Given the description of an element on the screen output the (x, y) to click on. 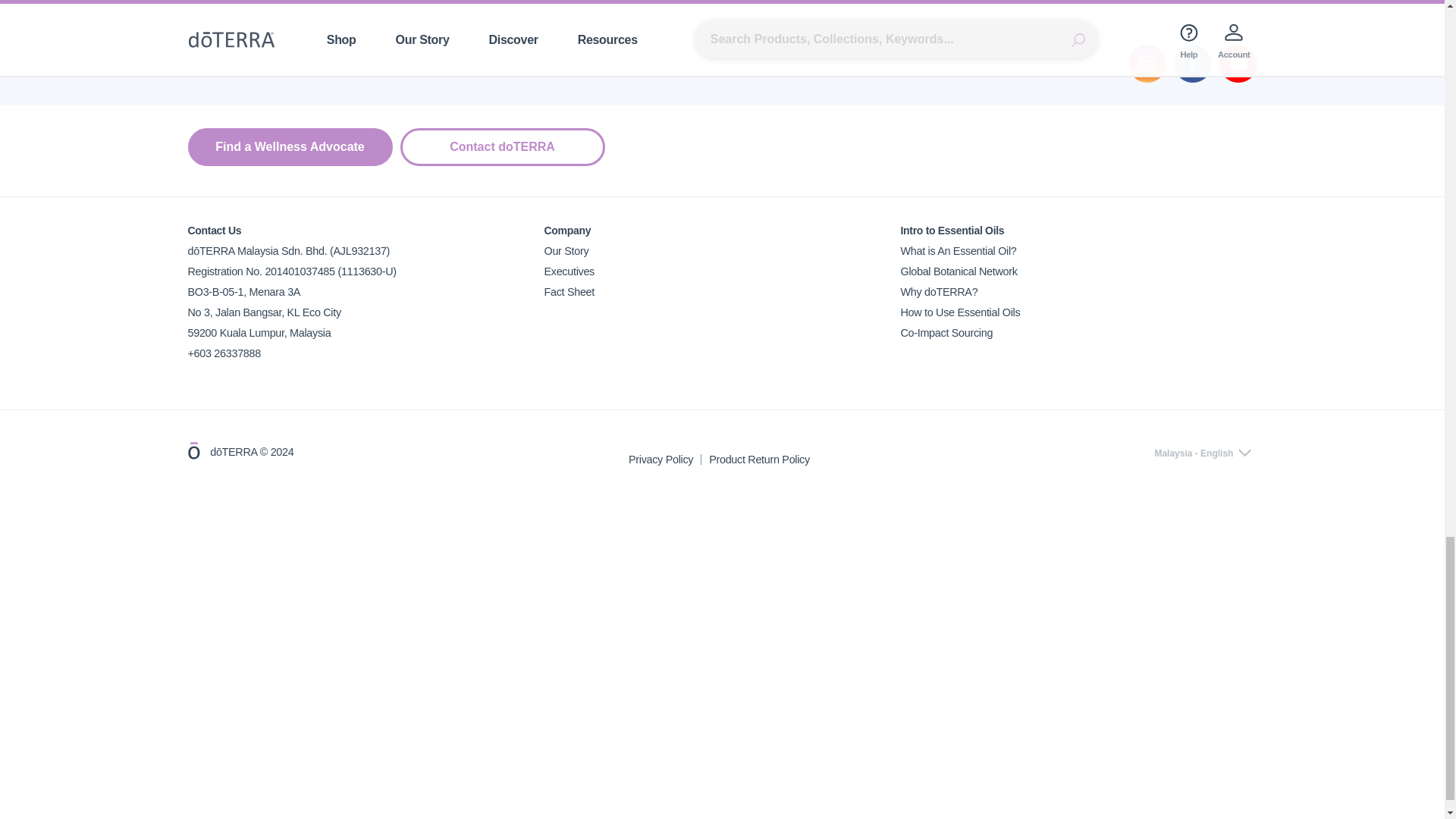
Facebook (1192, 63)
Instagram (1147, 63)
YouTube (1238, 63)
